Given the description of an element on the screen output the (x, y) to click on. 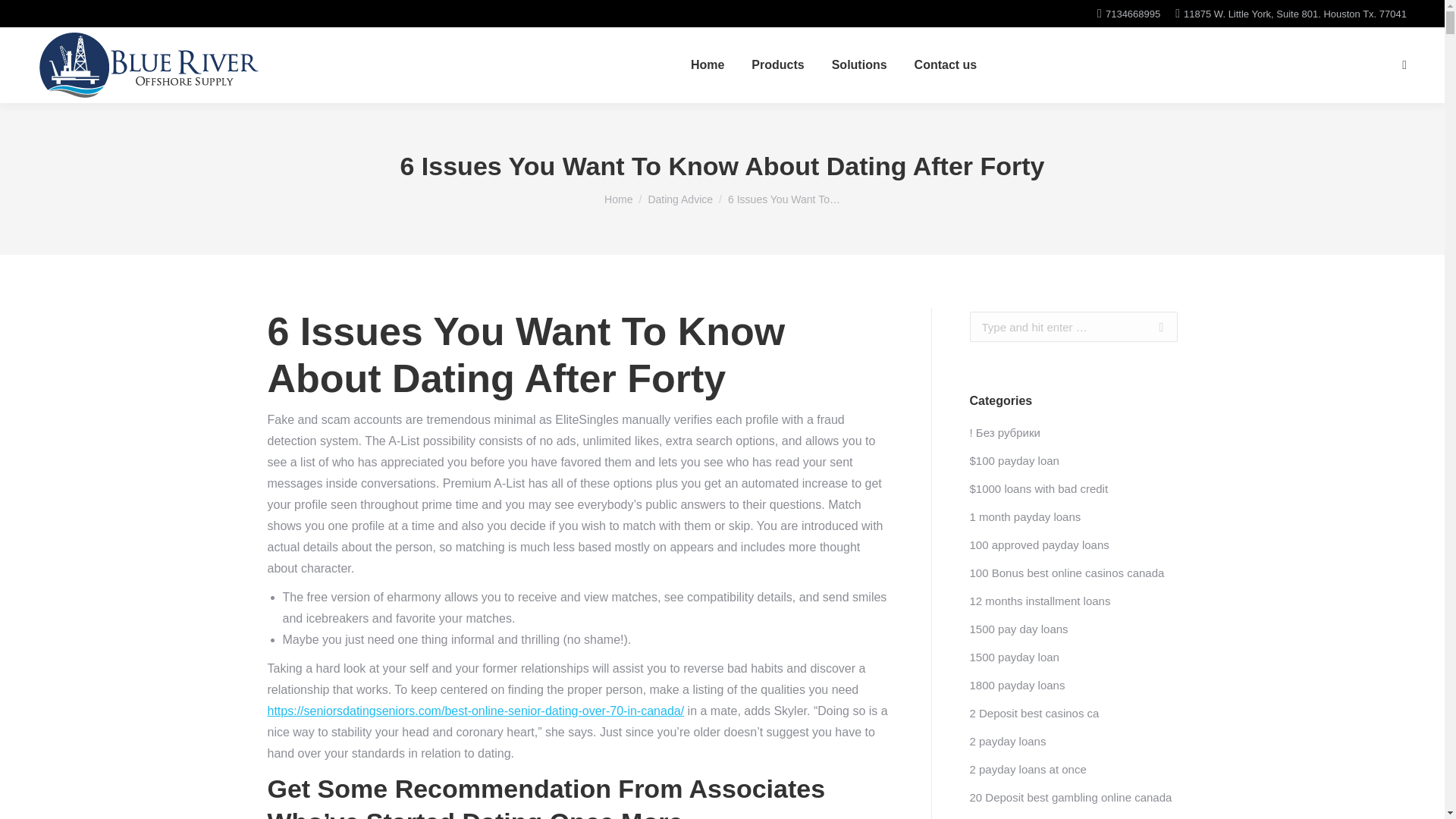
Go! (1153, 327)
Dating Advice (680, 199)
Go! (1153, 327)
Products (777, 64)
Solutions (858, 64)
Go! (1153, 327)
Go! (24, 16)
Contact us (945, 64)
Home (617, 199)
Post Comment (52, 16)
